Given the description of an element on the screen output the (x, y) to click on. 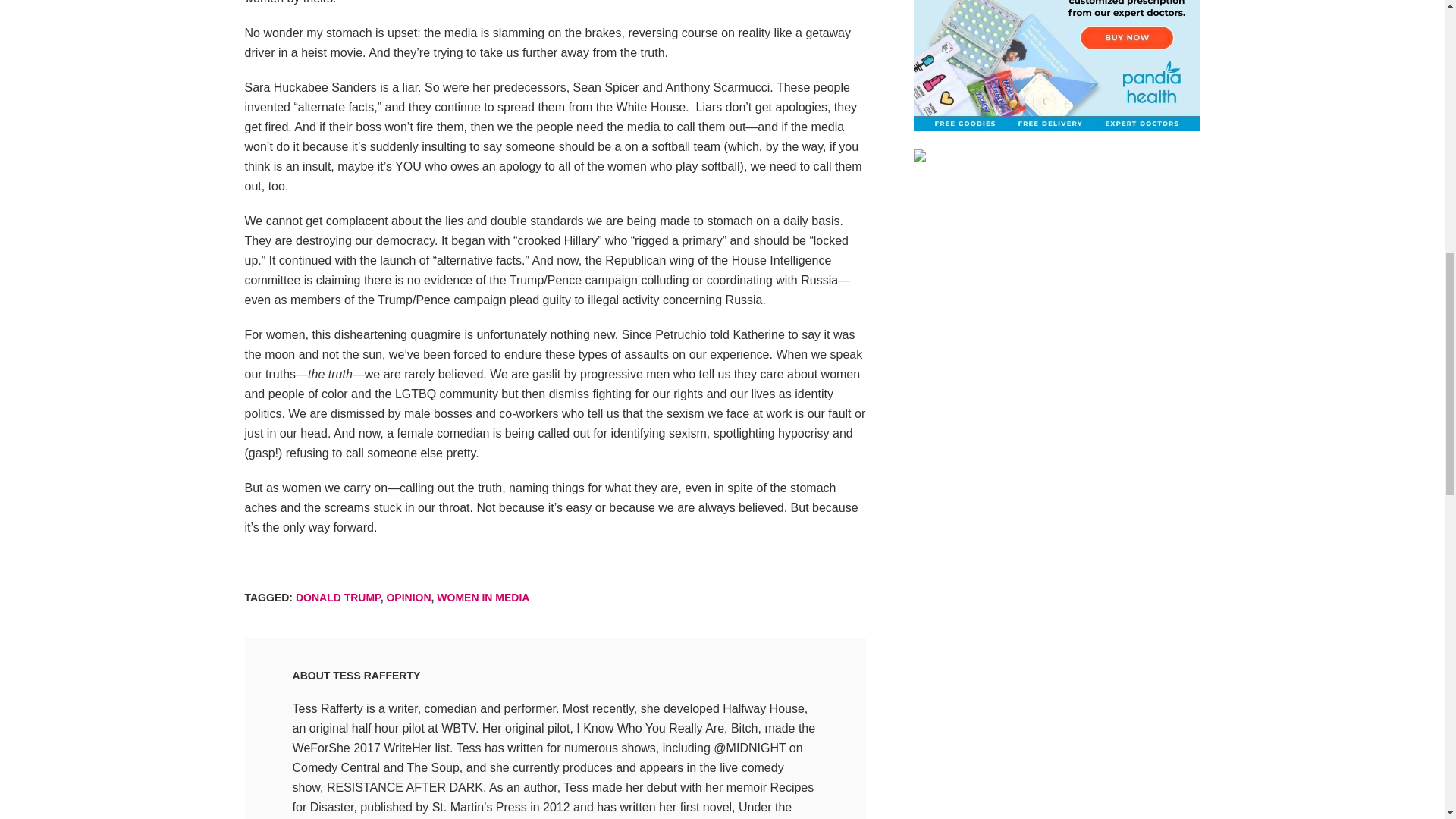
DONALD TRUMP (337, 597)
WOMEN IN MEDIA (482, 597)
OPINION (407, 597)
Posts by Tess Rafferty (376, 675)
TESS RAFFERTY (376, 675)
